Given the description of an element on the screen output the (x, y) to click on. 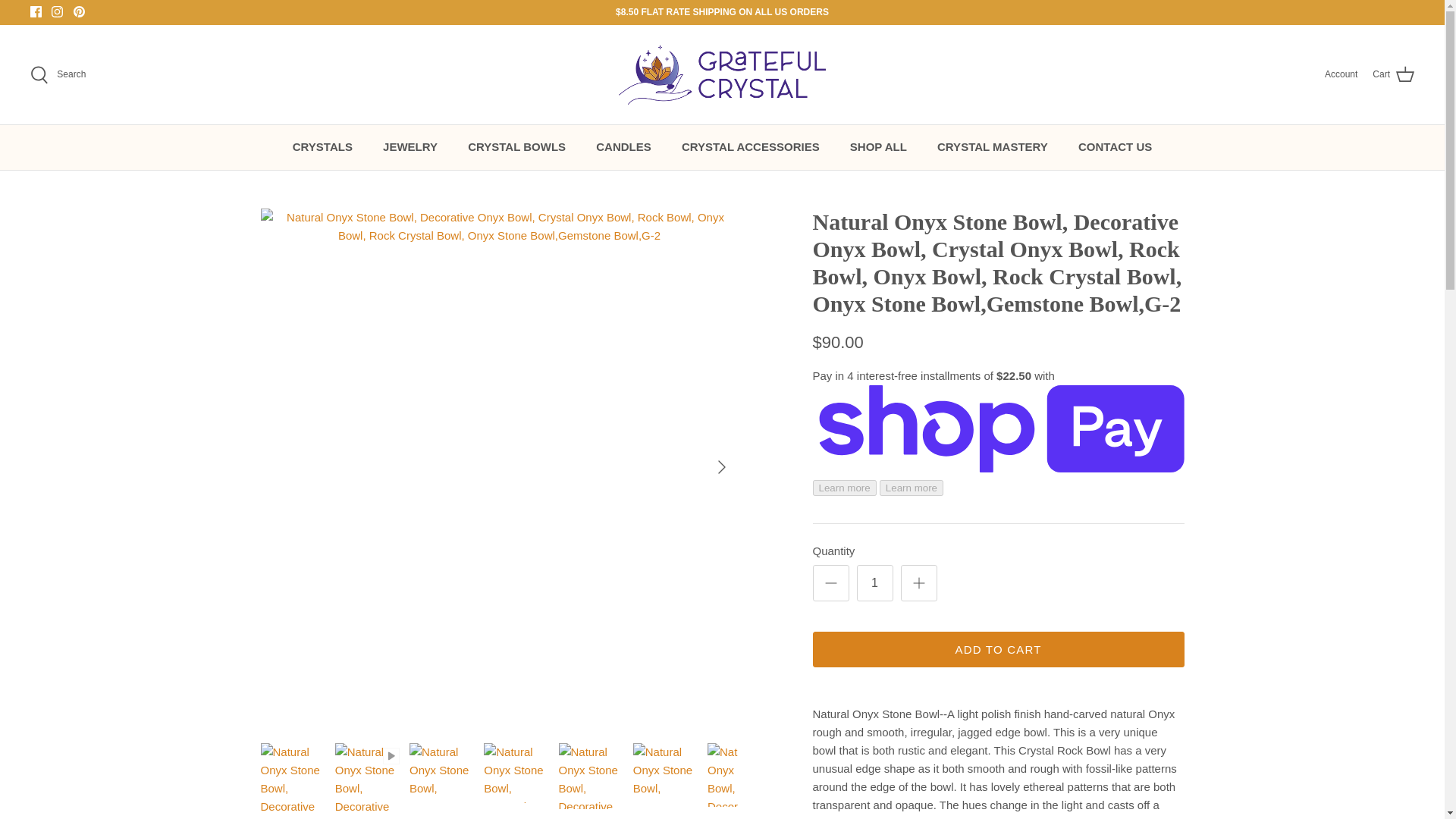
CRYSTAL BOWLS (516, 147)
Search (57, 75)
Grateful Crystal (721, 74)
Cart (1393, 75)
CRYSTAL ACCESSORIES (750, 147)
RIGHT (721, 467)
CRYSTALS (322, 147)
Instagram (56, 11)
JEWELRY (410, 147)
Facebook (36, 11)
